Given the description of an element on the screen output the (x, y) to click on. 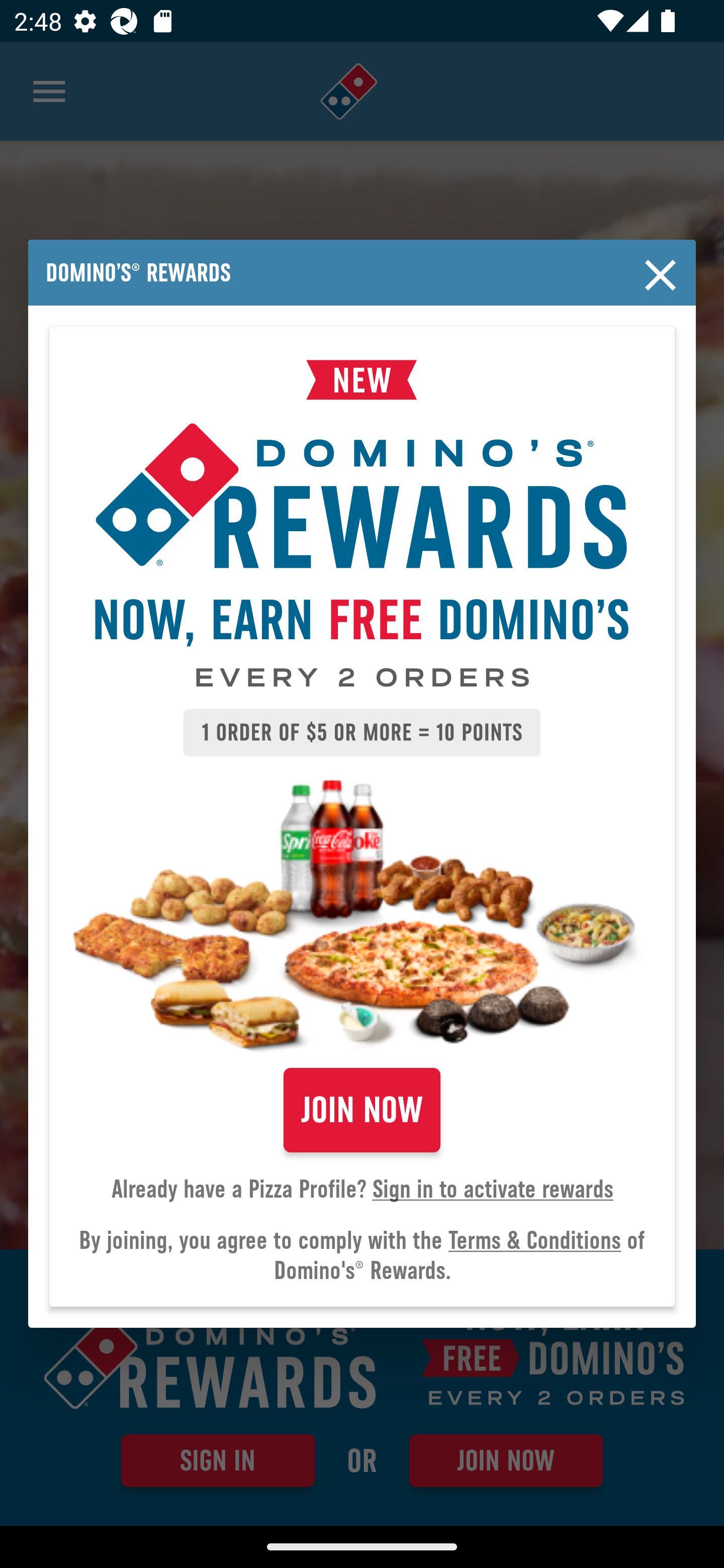
Close (660, 275)
JOIN NOW (361, 1109)
